Given the description of an element on the screen output the (x, y) to click on. 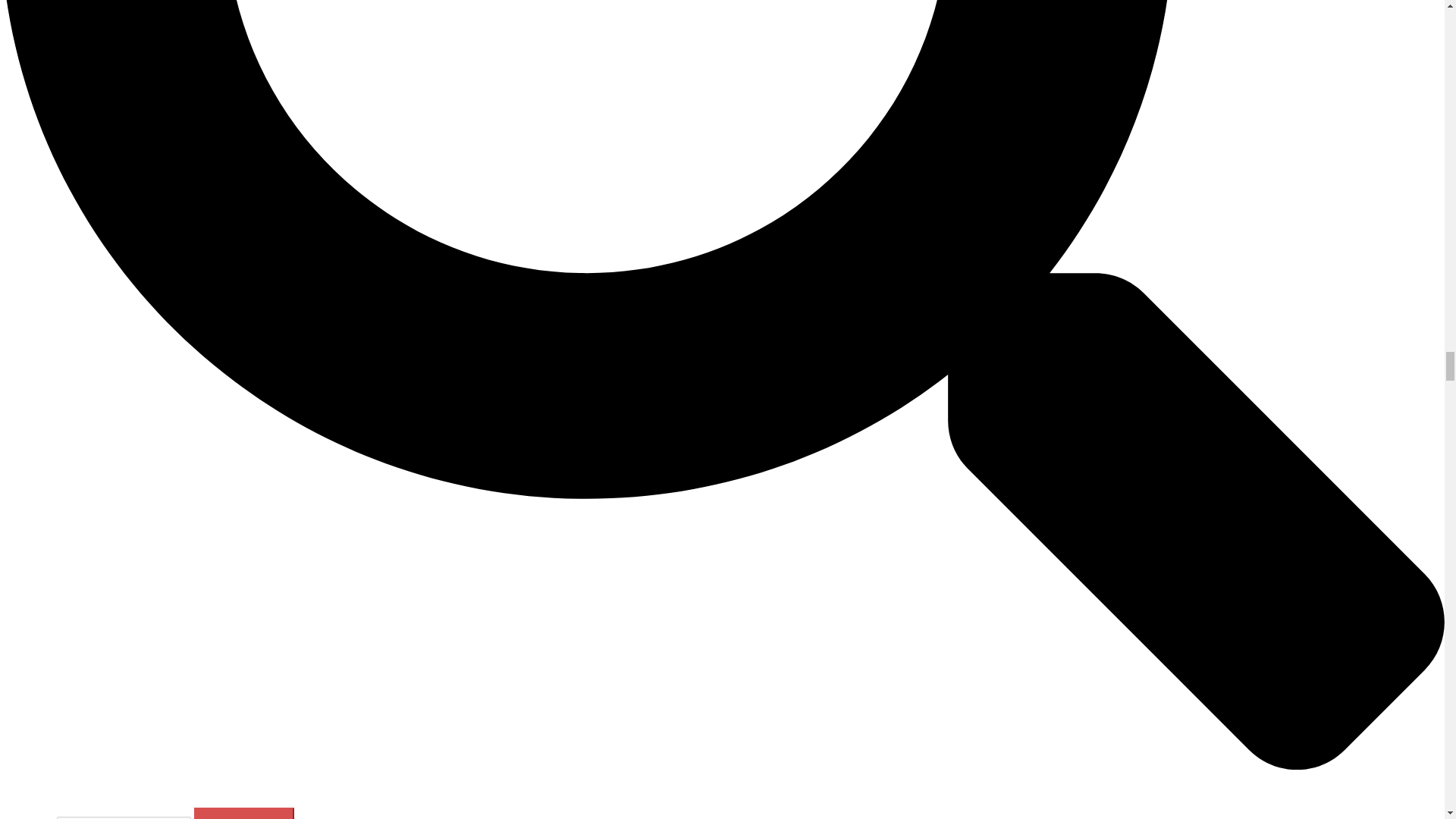
Search (243, 813)
Search (243, 813)
Search (243, 813)
